Given the description of an element on the screen output the (x, y) to click on. 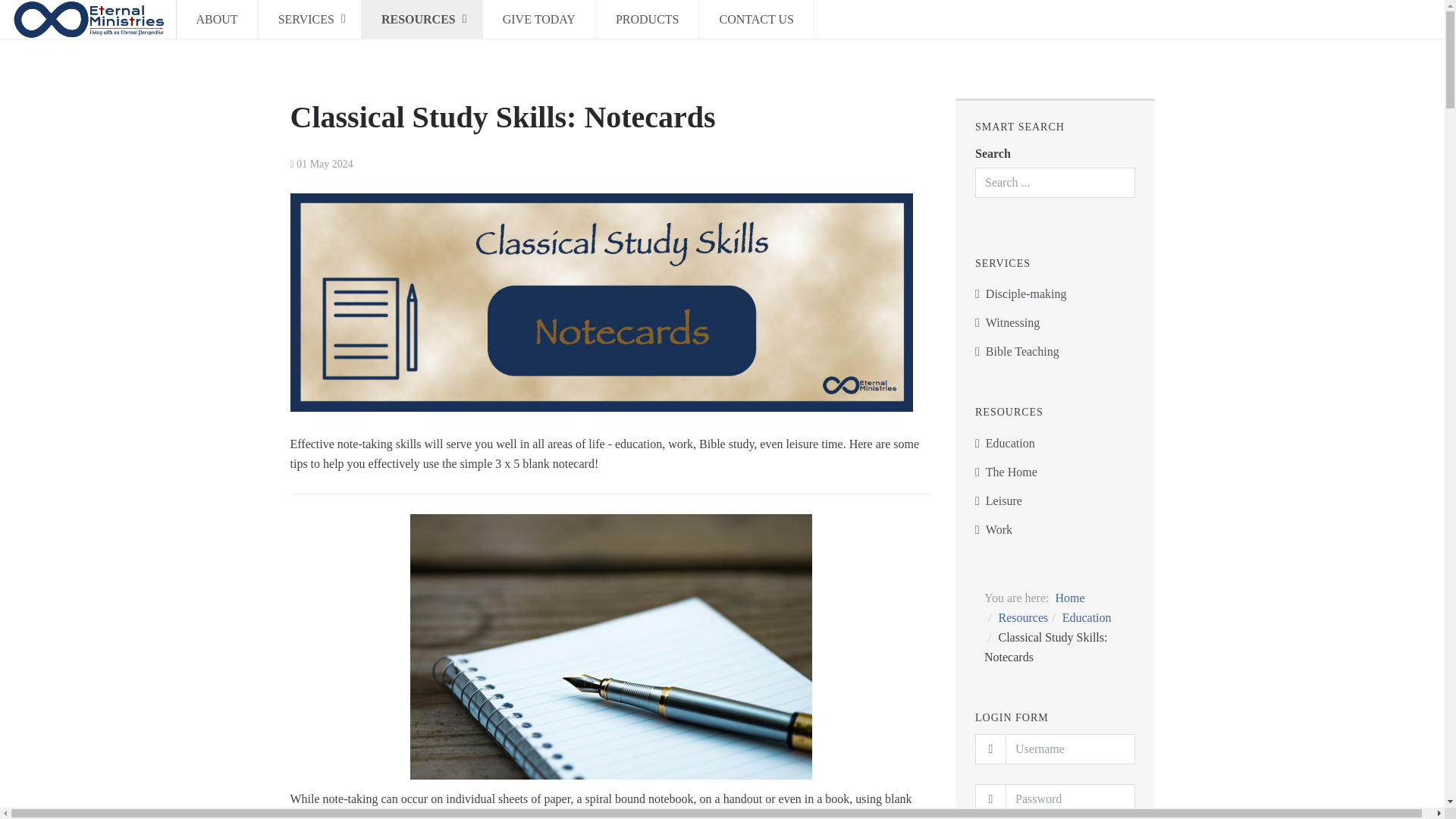
GIVE TODAY (539, 19)
Bible Teaching (1055, 351)
The Home (1055, 471)
Education (1055, 443)
Eternal Ministries (87, 19)
Classical Study Skills: Notecards (501, 116)
Witnessing (1055, 322)
CONTACT US (755, 19)
Disciple-making (1055, 294)
SERVICES (310, 19)
ABOUT (216, 19)
Classical Study Skills: Notecards (501, 116)
RESOURCES (421, 19)
PRODUCTS (646, 19)
Leisure (1055, 500)
